Given the description of an element on the screen output the (x, y) to click on. 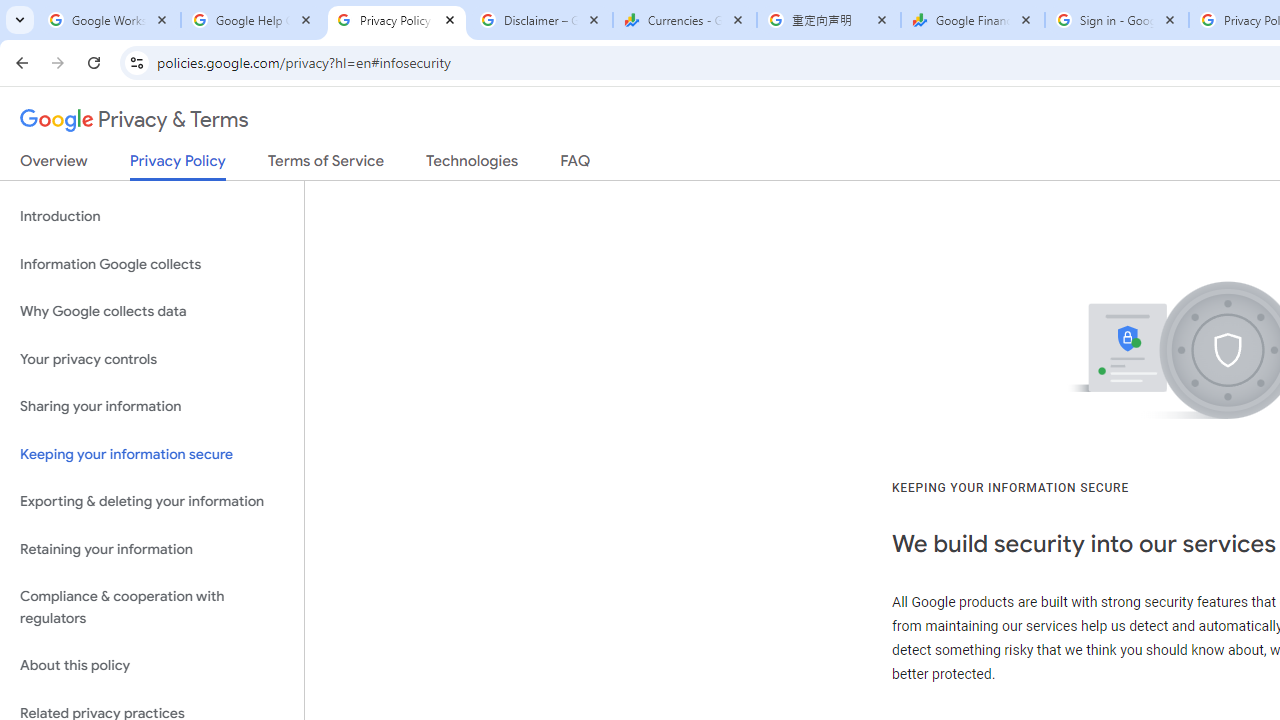
Your privacy controls (152, 358)
